Given the description of an element on the screen output the (x, y) to click on. 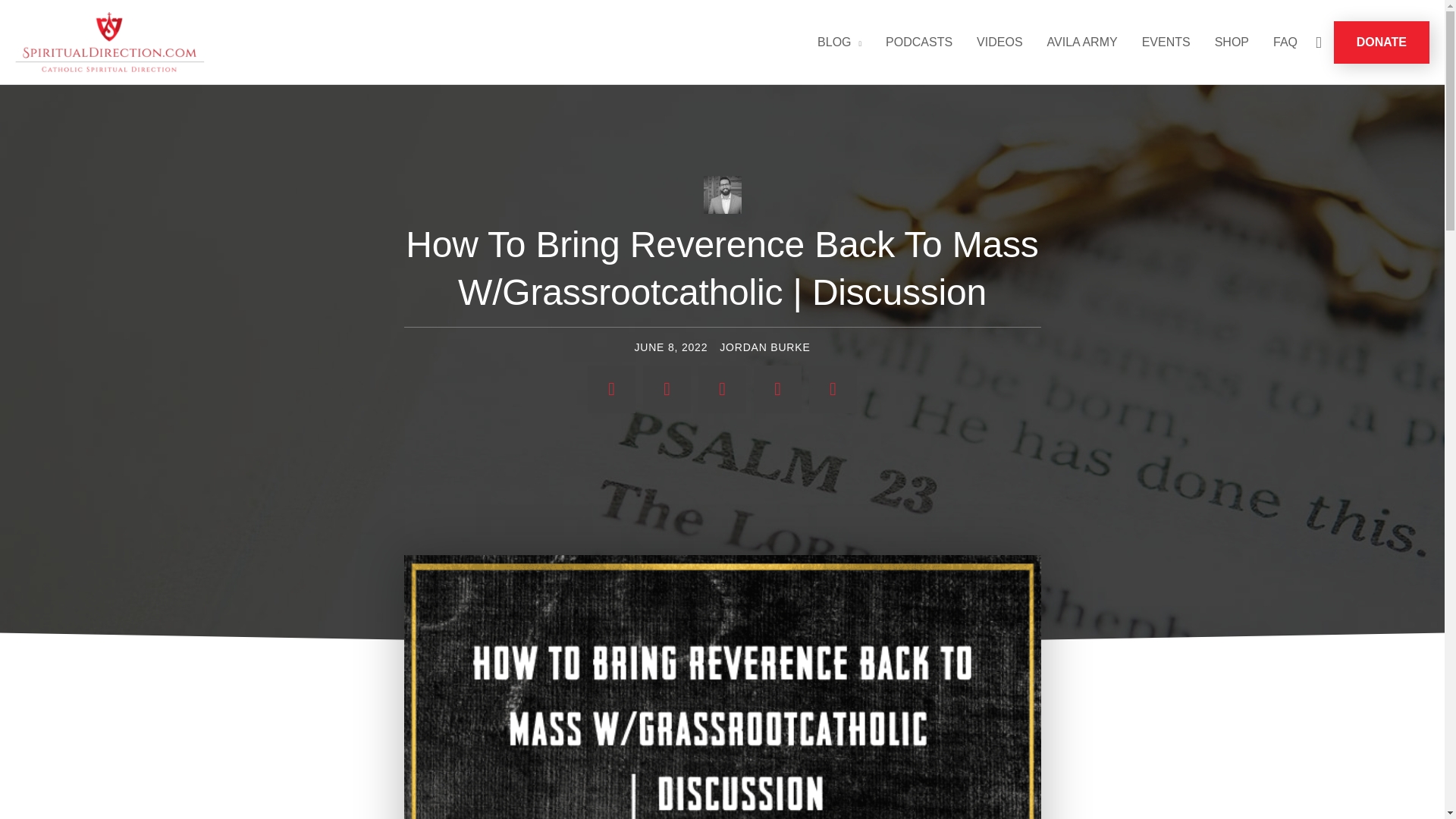
VIDEOS (998, 42)
SHOP (1231, 42)
EVENTS (1165, 42)
PODCASTS (918, 42)
AVILA ARMY (1082, 42)
DONATE (1381, 42)
BLOG (839, 42)
